Given the description of an element on the screen output the (x, y) to click on. 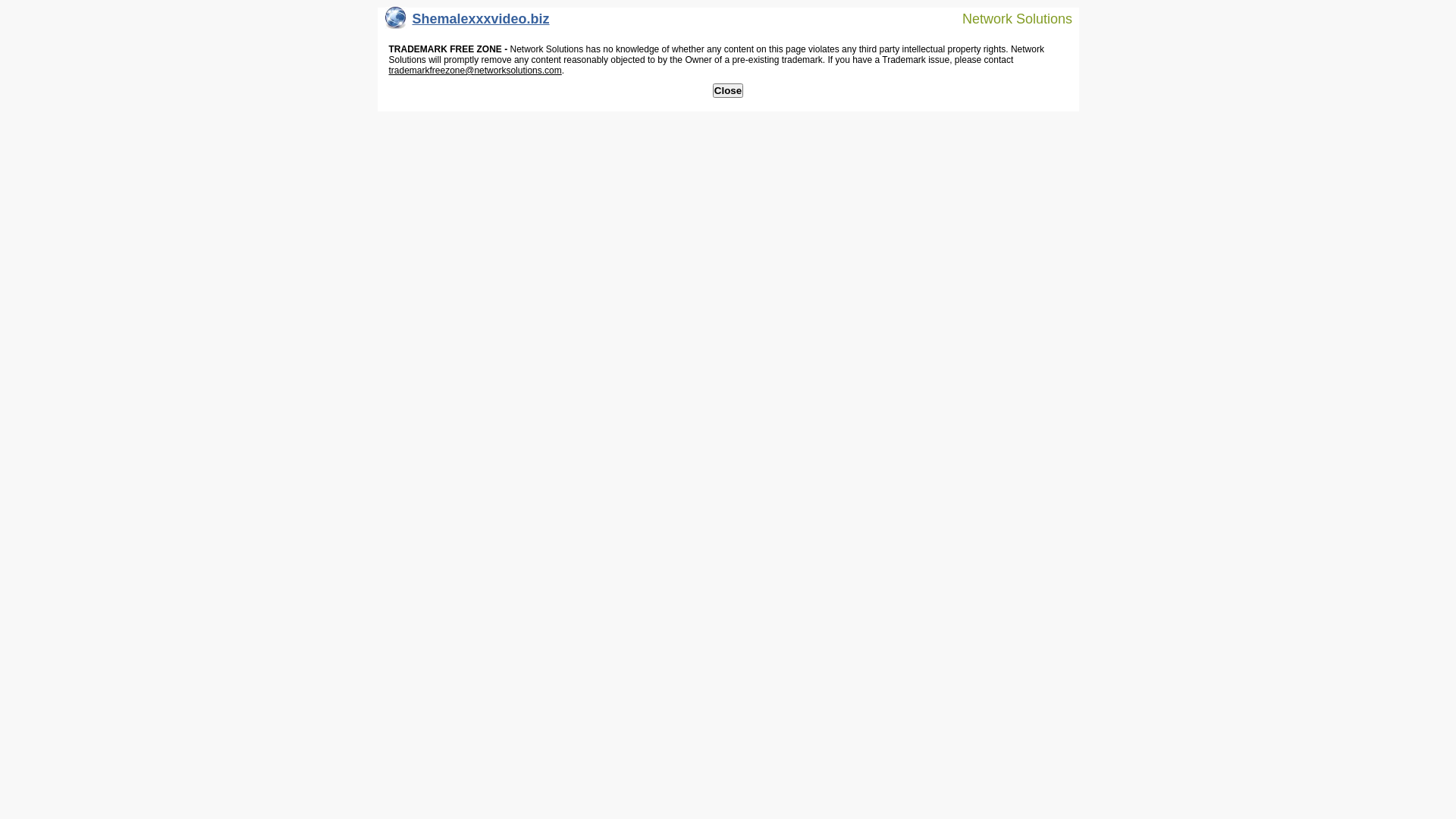
trademarkfreezone@networksolutions.com Element type: text (474, 70)
Shemalexxxvideo.biz Element type: text (467, 21)
Close Element type: text (727, 90)
Network Solutions Element type: text (1007, 17)
